Given the description of an element on the screen output the (x, y) to click on. 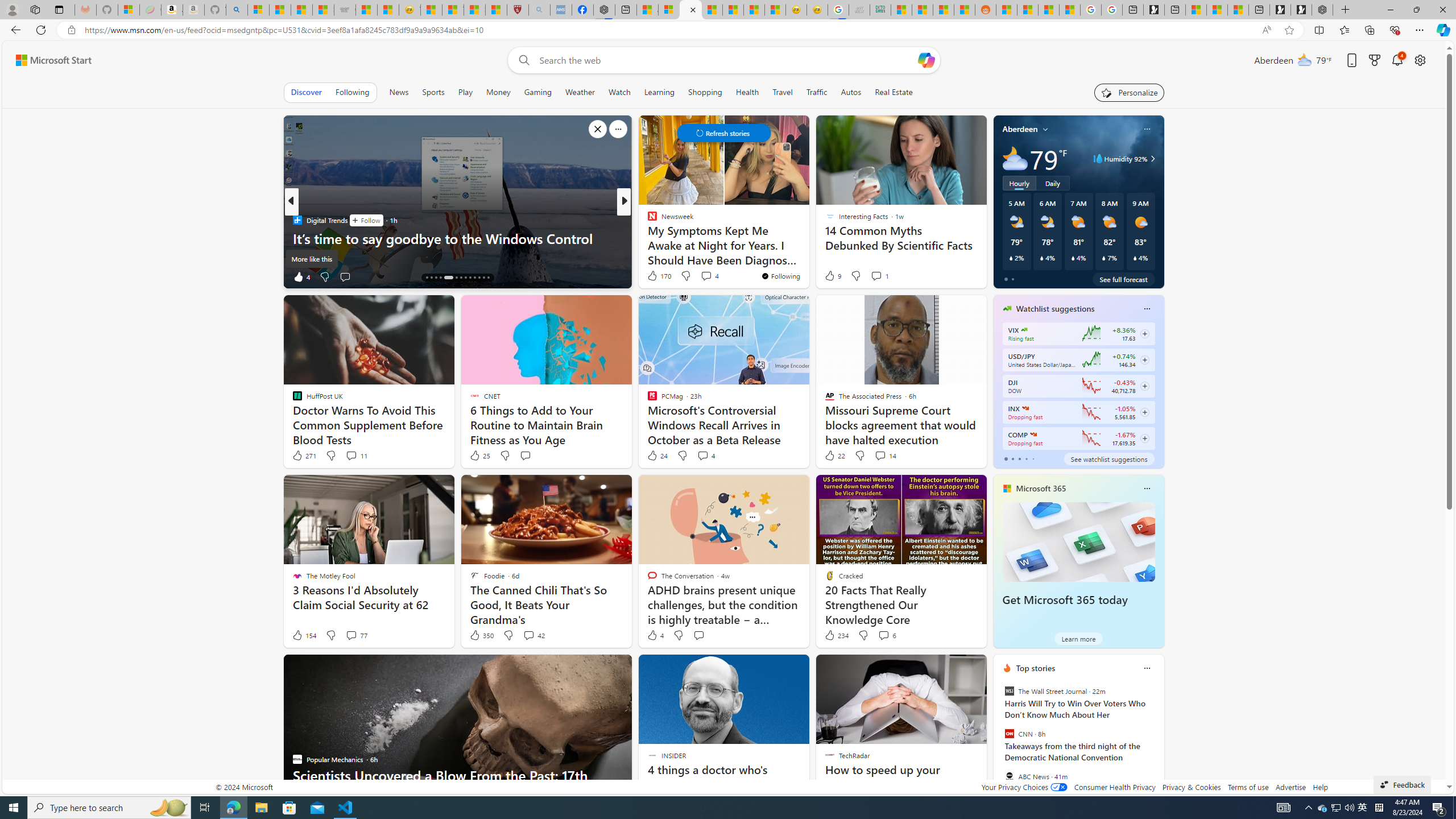
AutomationID: tab-20 (460, 277)
28 Like (652, 276)
View comments 11 Comment (355, 455)
Popular Mechanics (647, 219)
Watchlist suggestions (1055, 308)
View comments 42 Comment (528, 635)
AutomationID: tab-23 (474, 277)
